Given the description of an element on the screen output the (x, y) to click on. 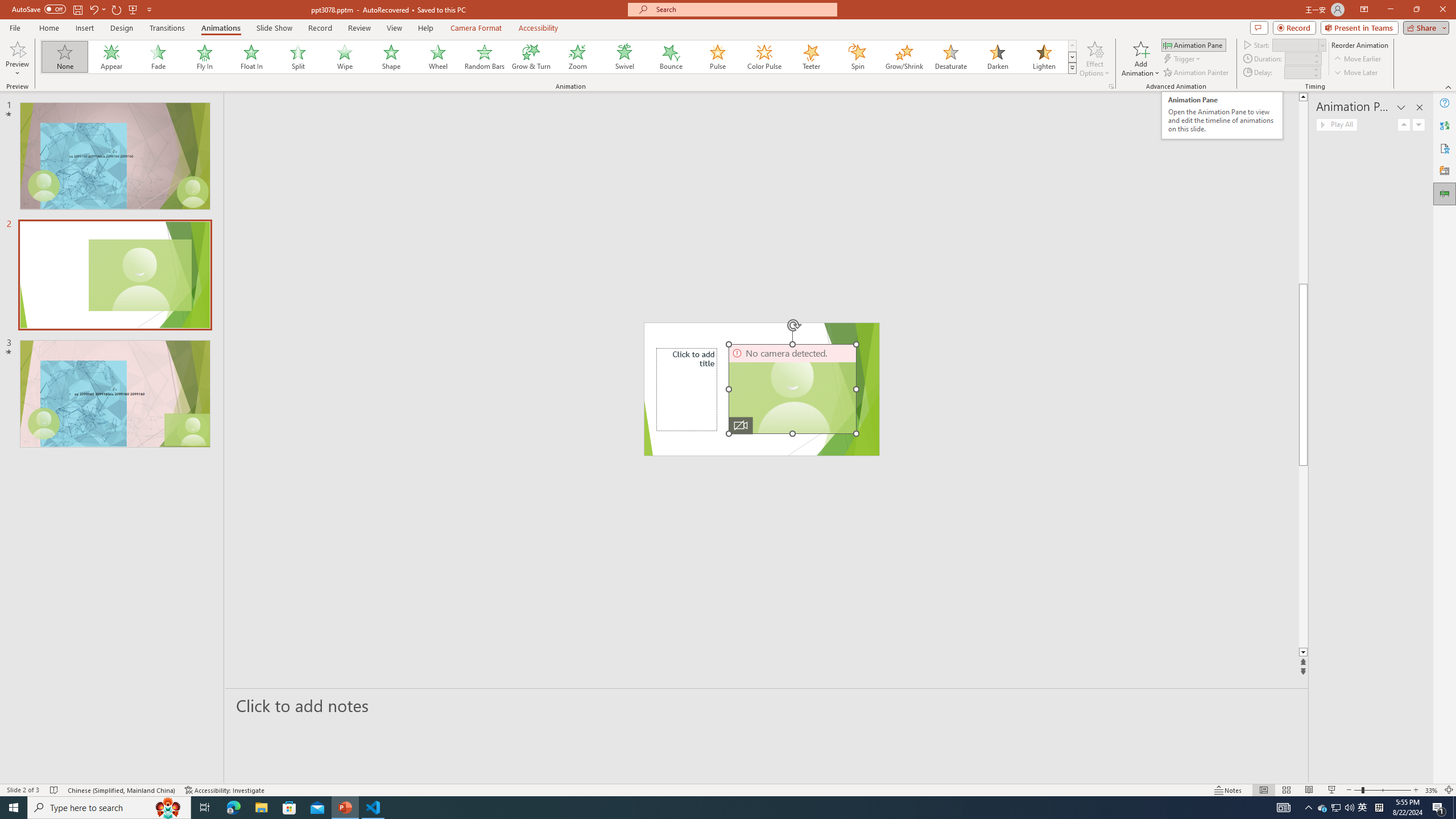
Move Up (1403, 124)
Darken (997, 56)
